Given the description of an element on the screen output the (x, y) to click on. 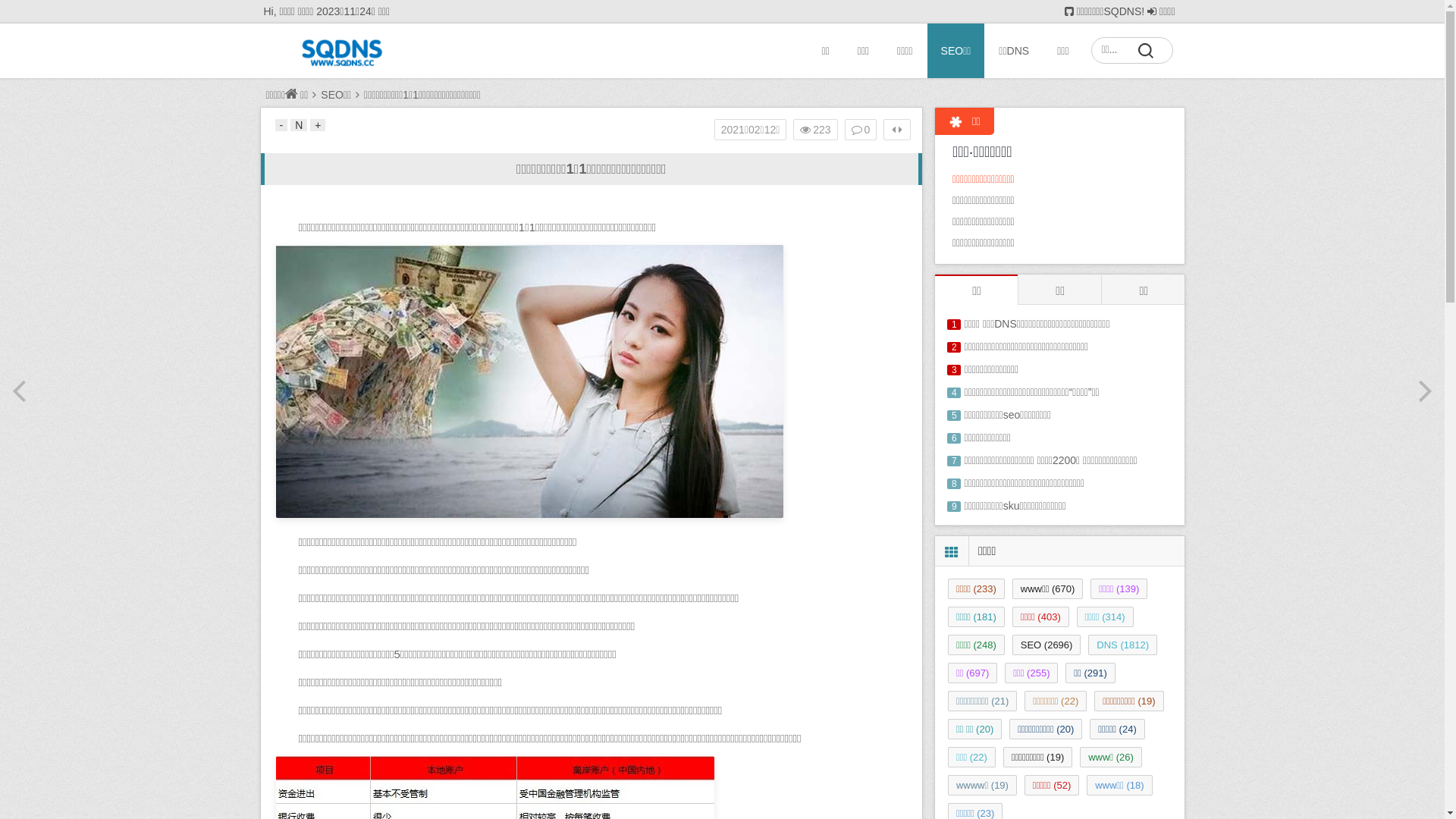
N Element type: text (298, 125)
DNS (1812) Element type: text (1122, 644)
+ Element type: text (317, 125)
SQDNS Element type: hover (343, 51)
0 Element type: text (860, 129)
- Element type: text (280, 125)
SEO (2696) Element type: text (1046, 644)
